Given the description of an element on the screen output the (x, y) to click on. 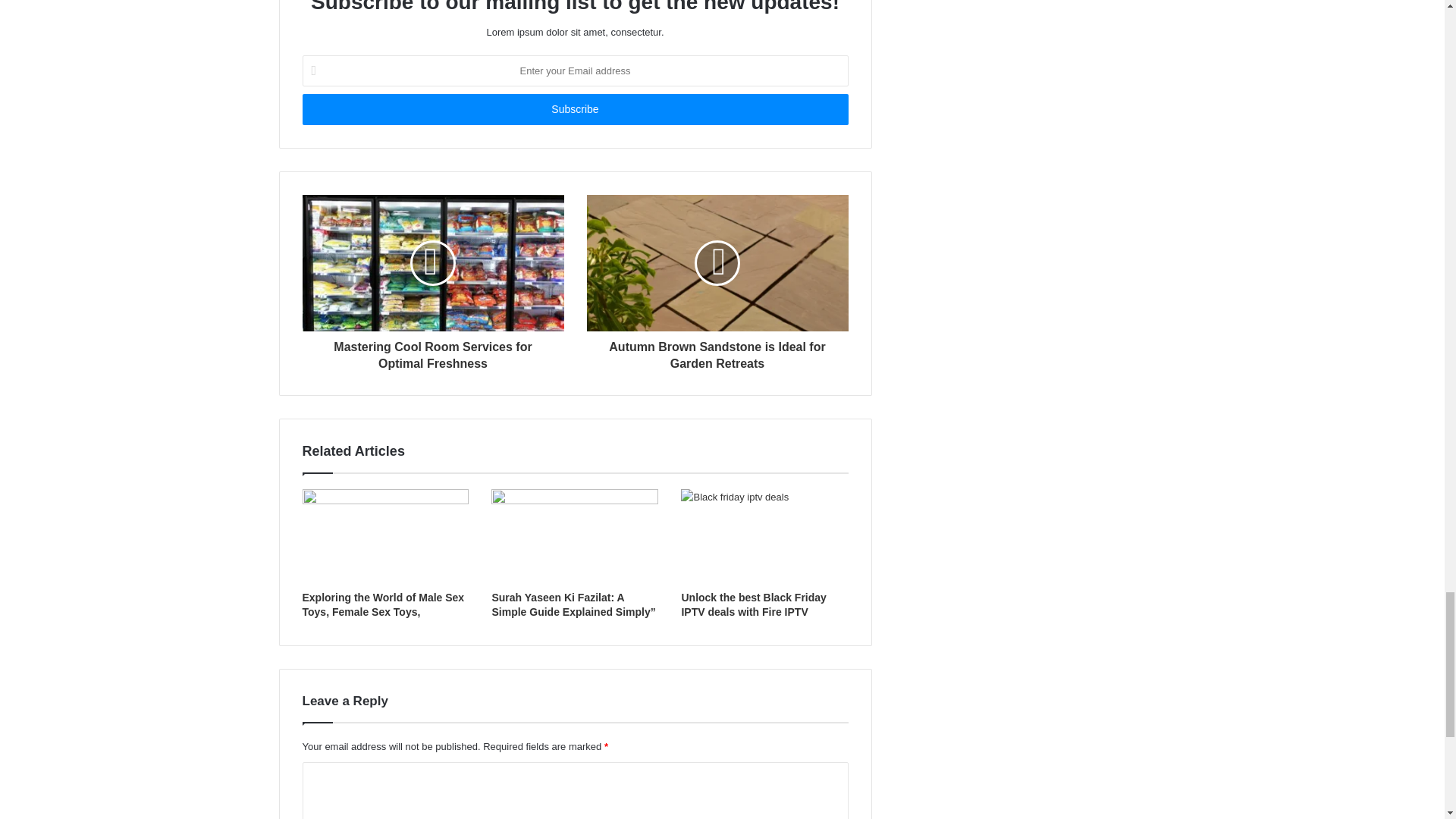
Subscribe (574, 109)
